Given the description of an element on the screen output the (x, y) to click on. 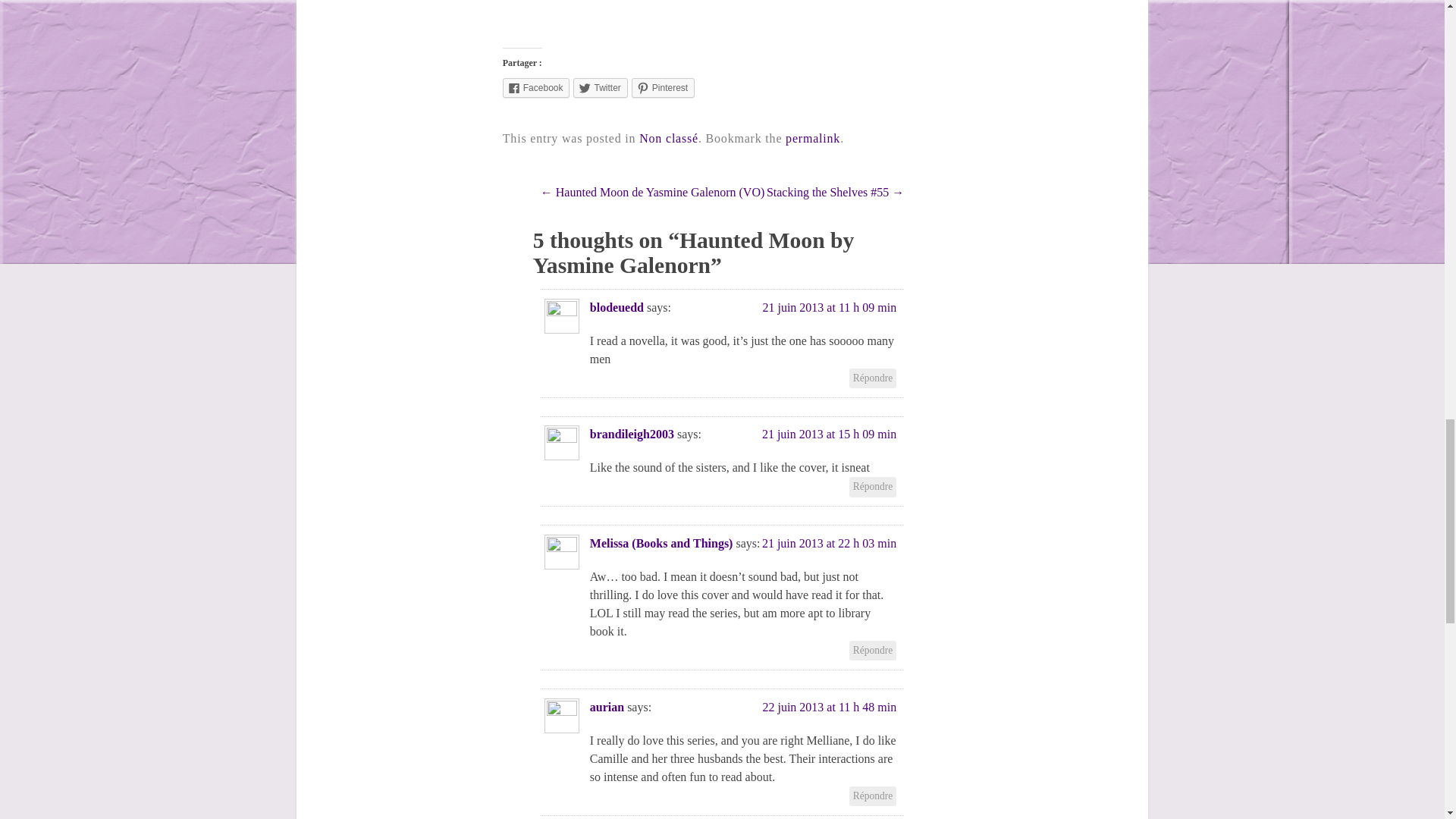
brandileigh2003 (631, 433)
Permalink to Haunted Moon by Yasmine Galenorn (813, 137)
blodeuedd (616, 307)
permalink (813, 137)
21 juin 2013 at 11 h 09 min (828, 307)
21 juin 2013 at 15 h 09 min (828, 433)
Cliquez pour partager sur Twitter (600, 87)
Facebook (536, 87)
Twitter (600, 87)
Cliquez pour partager sur Facebook (536, 87)
